Given the description of an element on the screen output the (x, y) to click on. 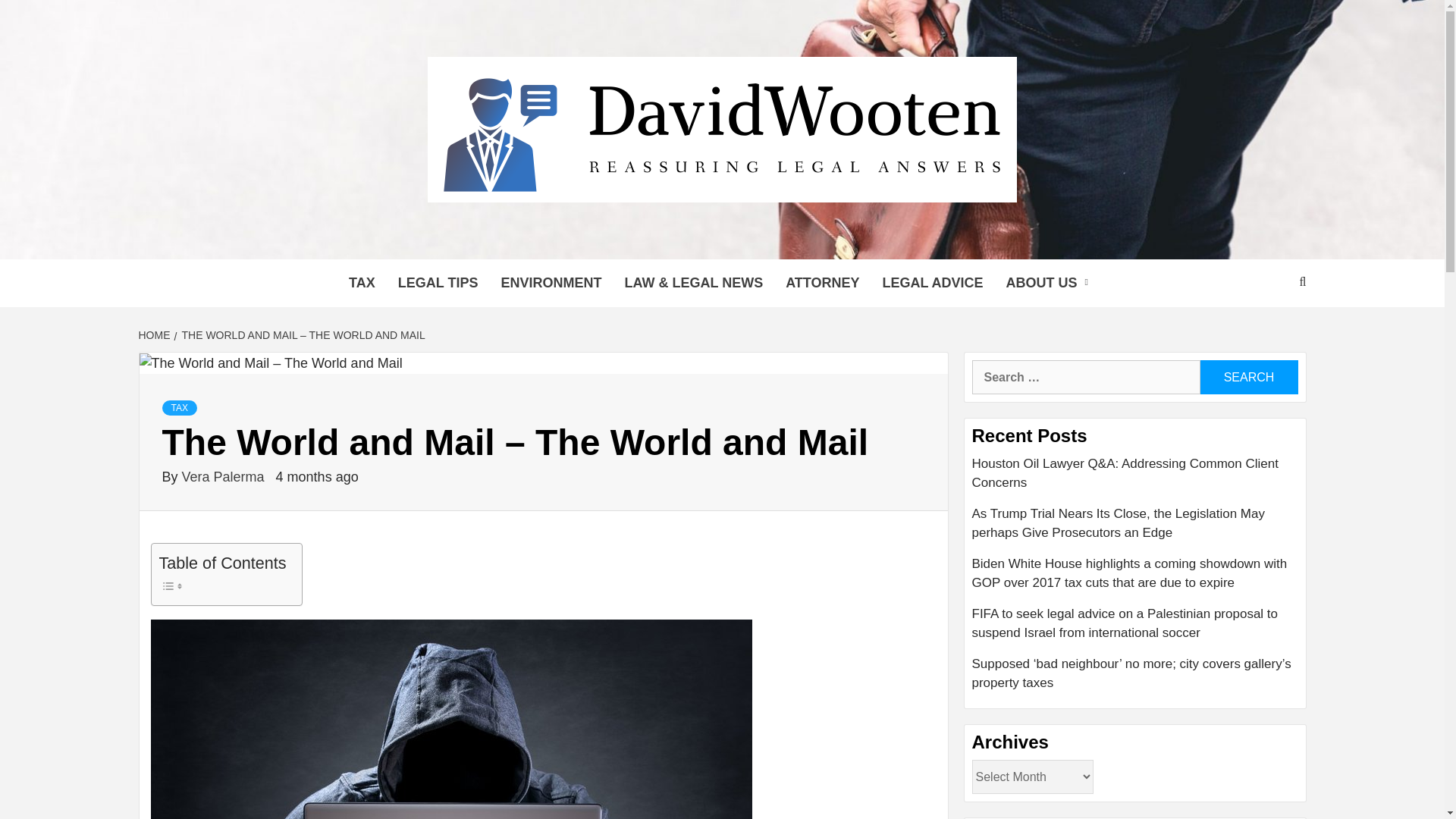
LEGAL TIPS (438, 283)
ATTORNEY (822, 283)
LEGAL ADVICE (932, 283)
TAX (178, 407)
ENVIRONMENT (550, 283)
TAX (362, 283)
DAVIDWOOTEN (427, 240)
Search (1248, 376)
ABOUT US (1050, 283)
Search (1248, 376)
HOME (155, 335)
Search (1248, 376)
Vera Palerma (224, 476)
